Given the description of an element on the screen output the (x, y) to click on. 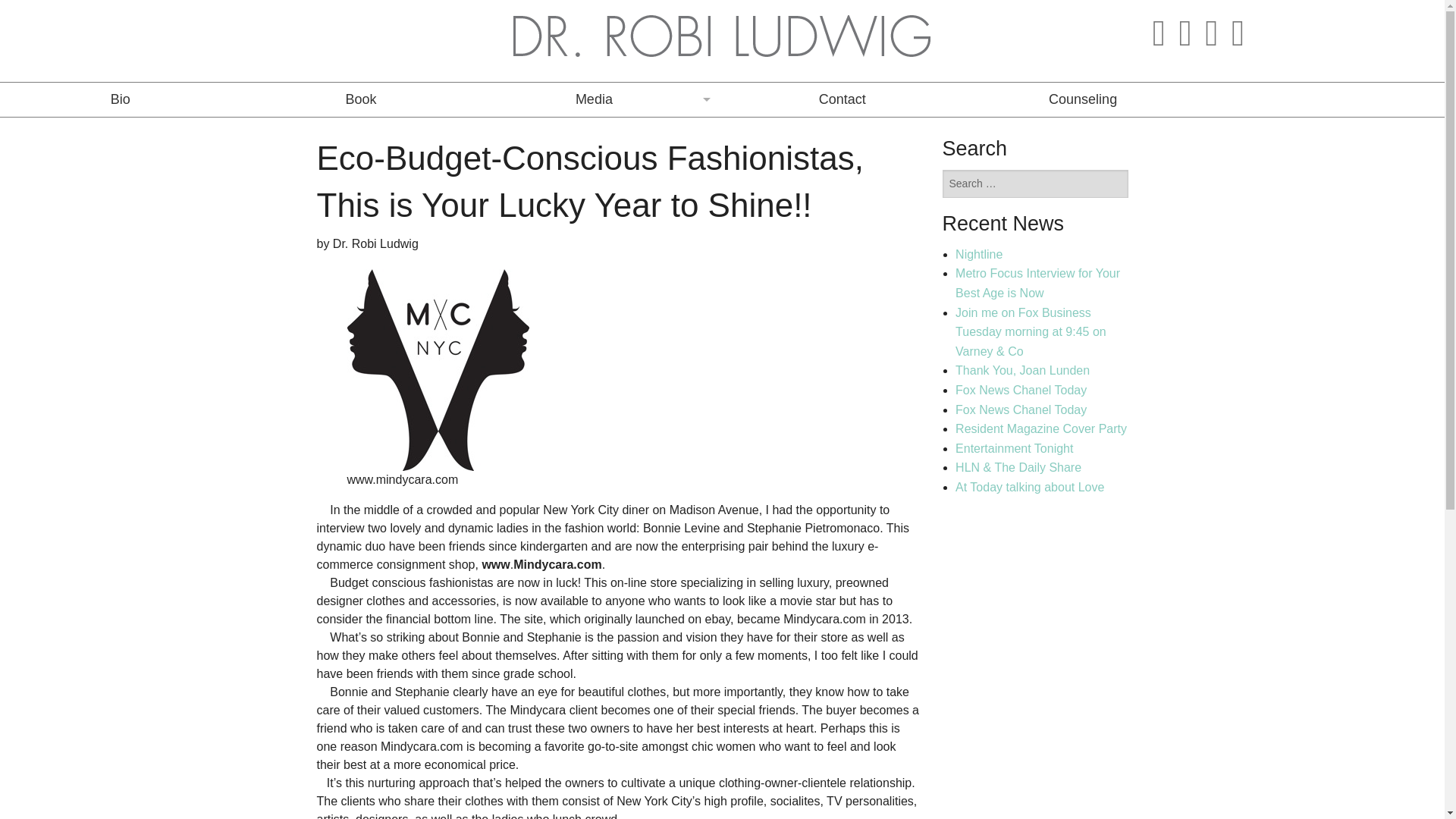
Entertainment Tonight (1014, 448)
Talking Live (600, 133)
Photos (600, 304)
Contact (842, 99)
Fox News Chanel Today (1020, 409)
Search (966, 222)
Media (601, 99)
Book (360, 99)
Bio (120, 99)
Nightline (979, 254)
